Given the description of an element on the screen output the (x, y) to click on. 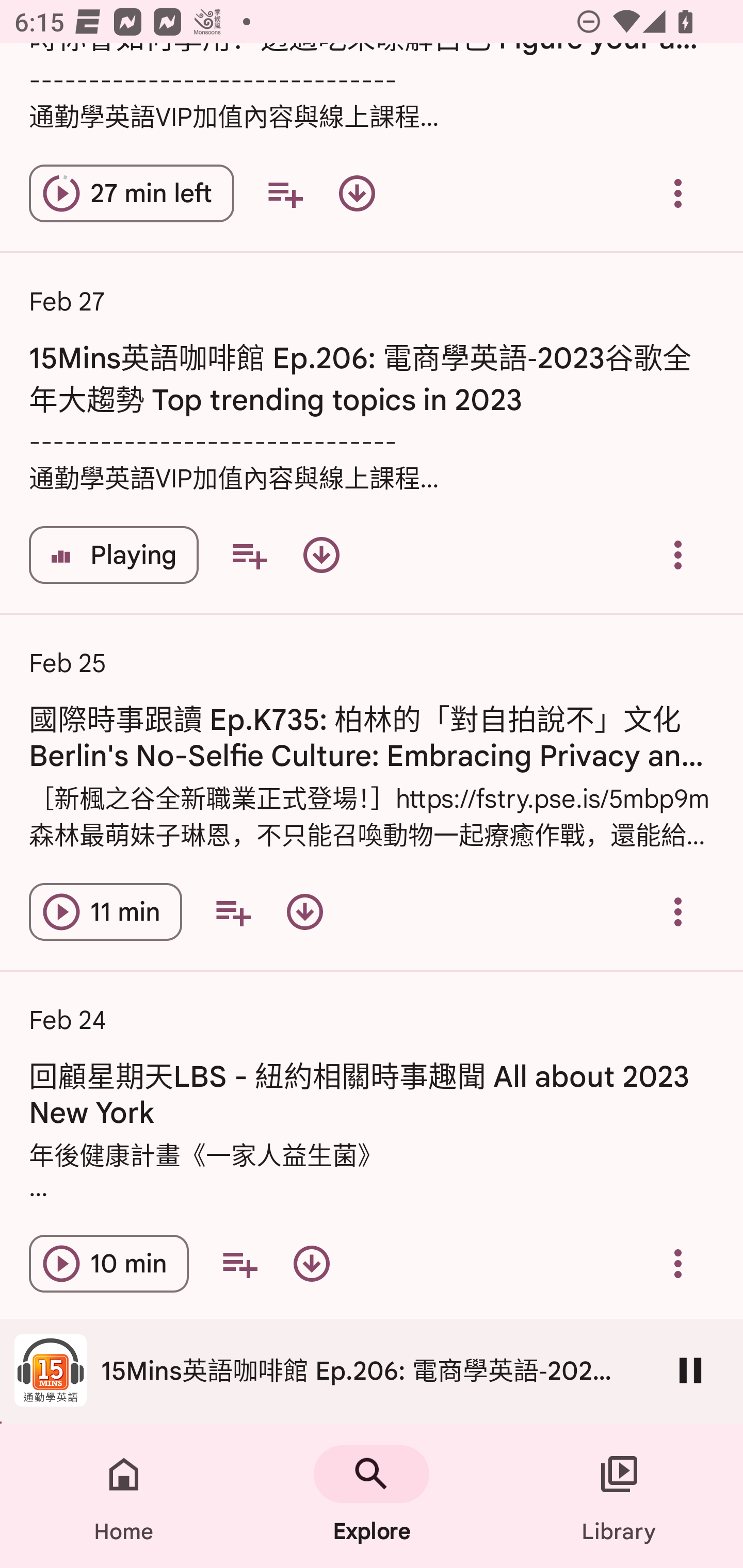
Add to your queue (284, 193)
Download episode (356, 193)
Overflow menu (677, 193)
Add to your queue (249, 554)
Download episode (321, 554)
Overflow menu (677, 554)
Add to your queue (232, 911)
Download episode (304, 911)
Overflow menu (677, 911)
Add to your queue (239, 1263)
Download episode (311, 1263)
Overflow menu (677, 1263)
Pause (690, 1370)
Home (123, 1495)
Library (619, 1495)
